Given the description of an element on the screen output the (x, y) to click on. 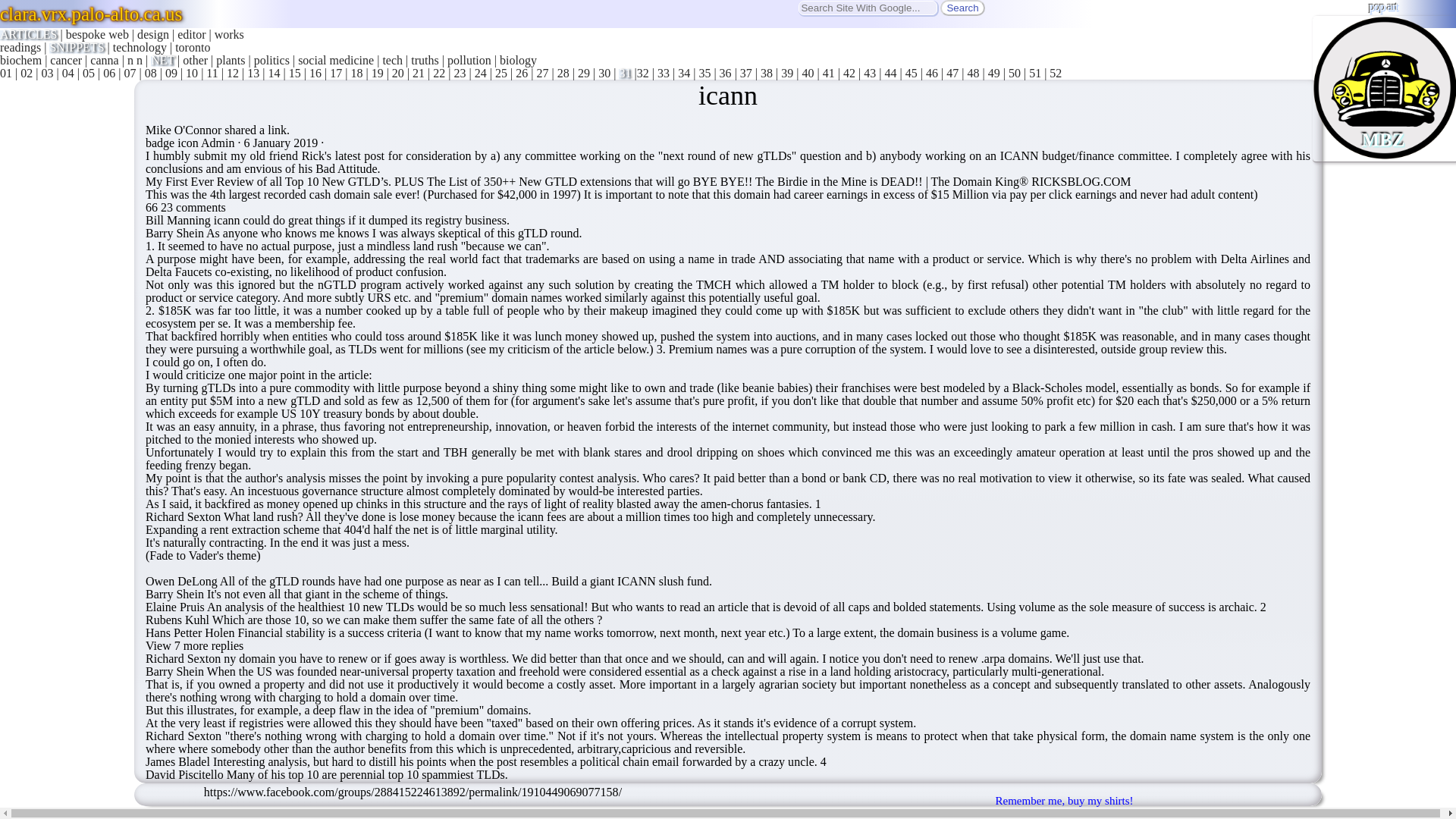
other (195, 60)
34 (684, 72)
02 (26, 72)
17 (336, 72)
14 (273, 72)
clara.vrx.palo-alto.ca.us (91, 13)
14 (273, 72)
bespoke web (97, 33)
04 (68, 72)
09 (171, 72)
20 (397, 72)
06 (109, 72)
30 (604, 72)
07 (129, 72)
21 (418, 72)
